Given the description of an element on the screen output the (x, y) to click on. 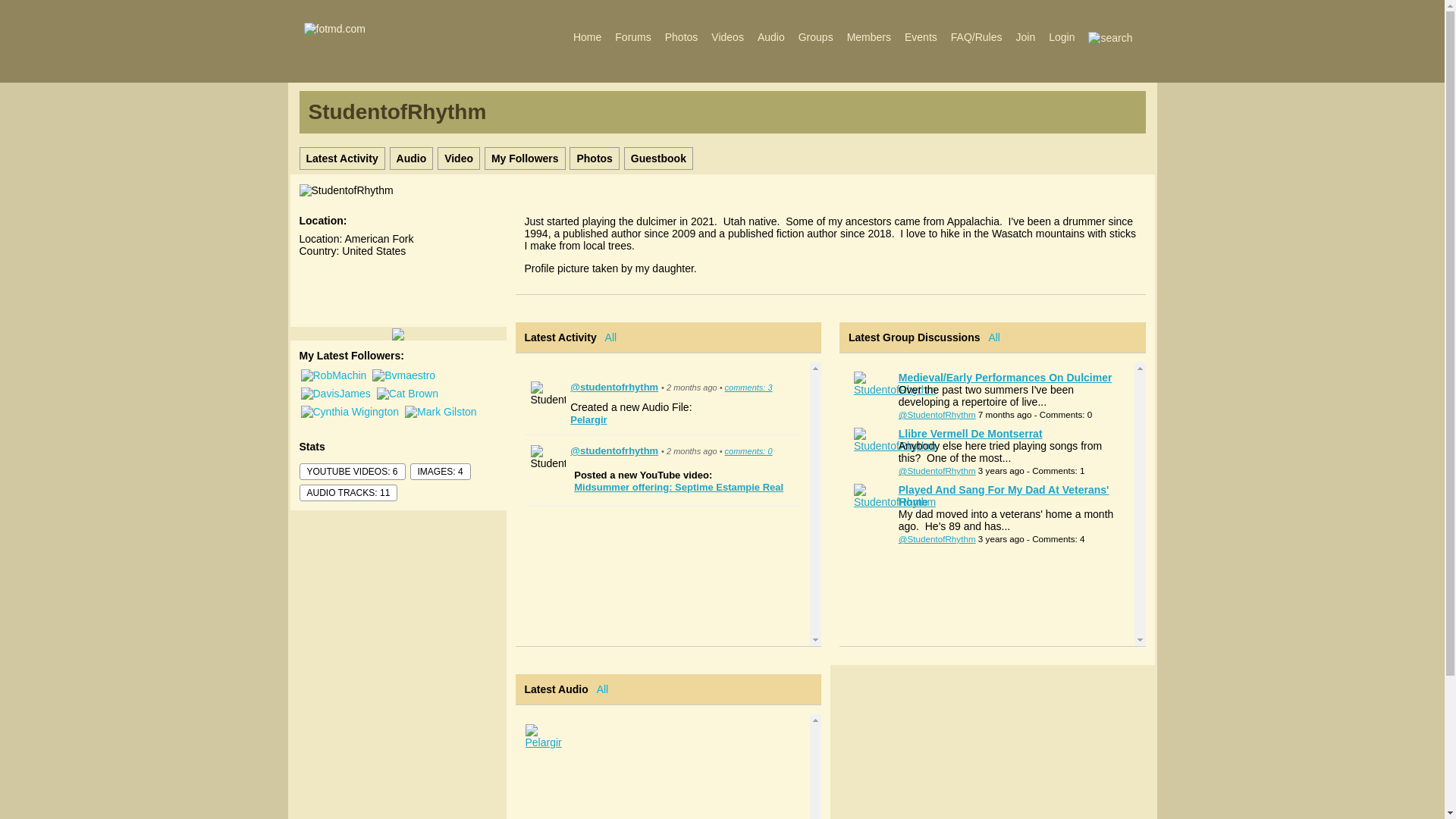
Join (1025, 36)
StudentofRhythm (614, 387)
All (611, 337)
Forums (633, 36)
Home (587, 36)
Videos (727, 36)
Guestbook (659, 158)
Members (869, 36)
Photos (594, 158)
Cat Brown (407, 393)
